Given the description of an element on the screen output the (x, y) to click on. 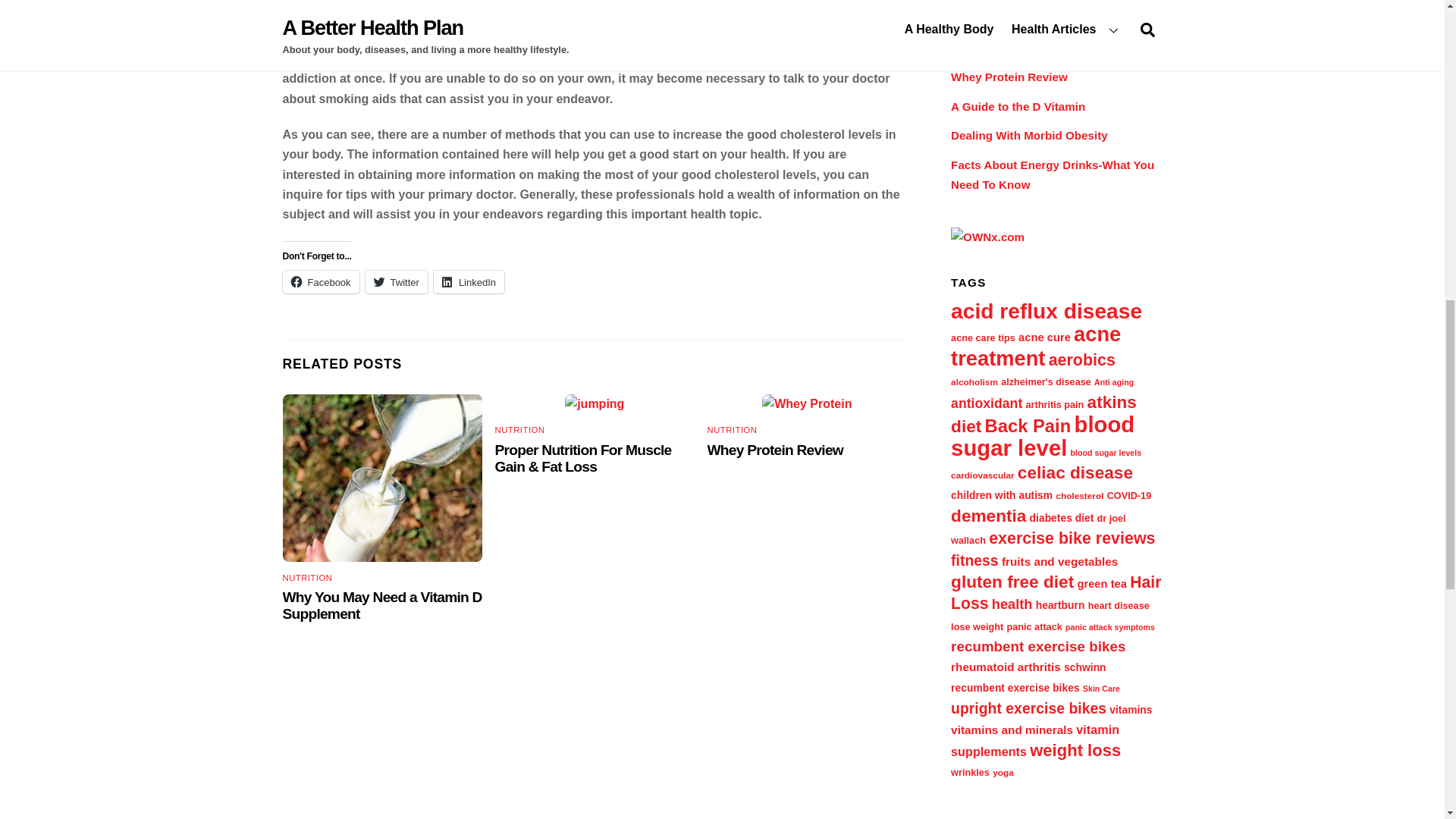
Click to share on Twitter (396, 282)
NUTRITION (306, 577)
LinkedIn (468, 282)
Why You May Need a Vitamin D Supplement (381, 604)
NUTRITION (519, 429)
Whey Protein Review (775, 449)
Click to share on Facebook (320, 282)
NUTRITION (732, 429)
jumping (594, 403)
glass-milk (381, 477)
